Given the description of an element on the screen output the (x, y) to click on. 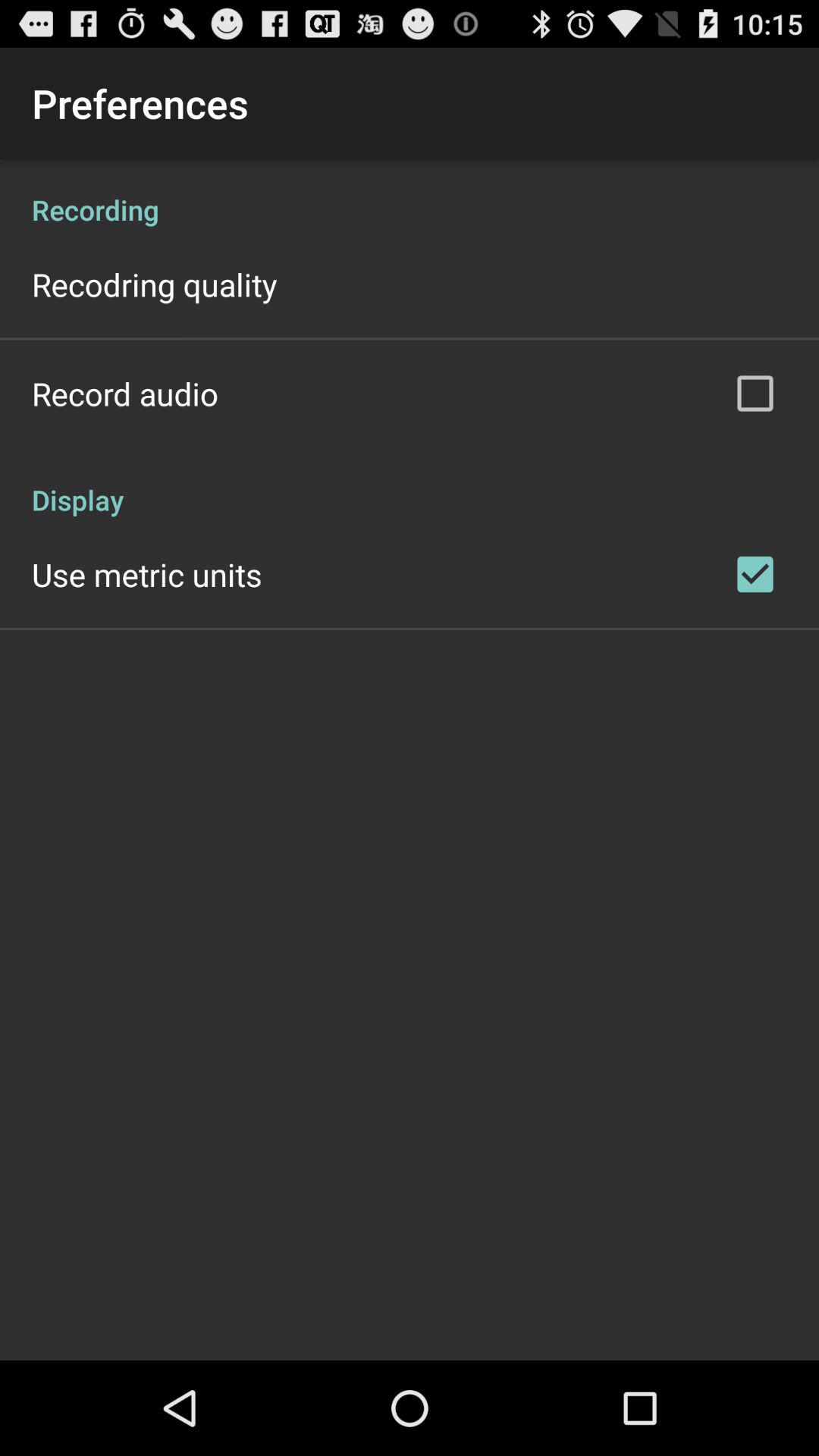
press record audio (124, 393)
